Given the description of an element on the screen output the (x, y) to click on. 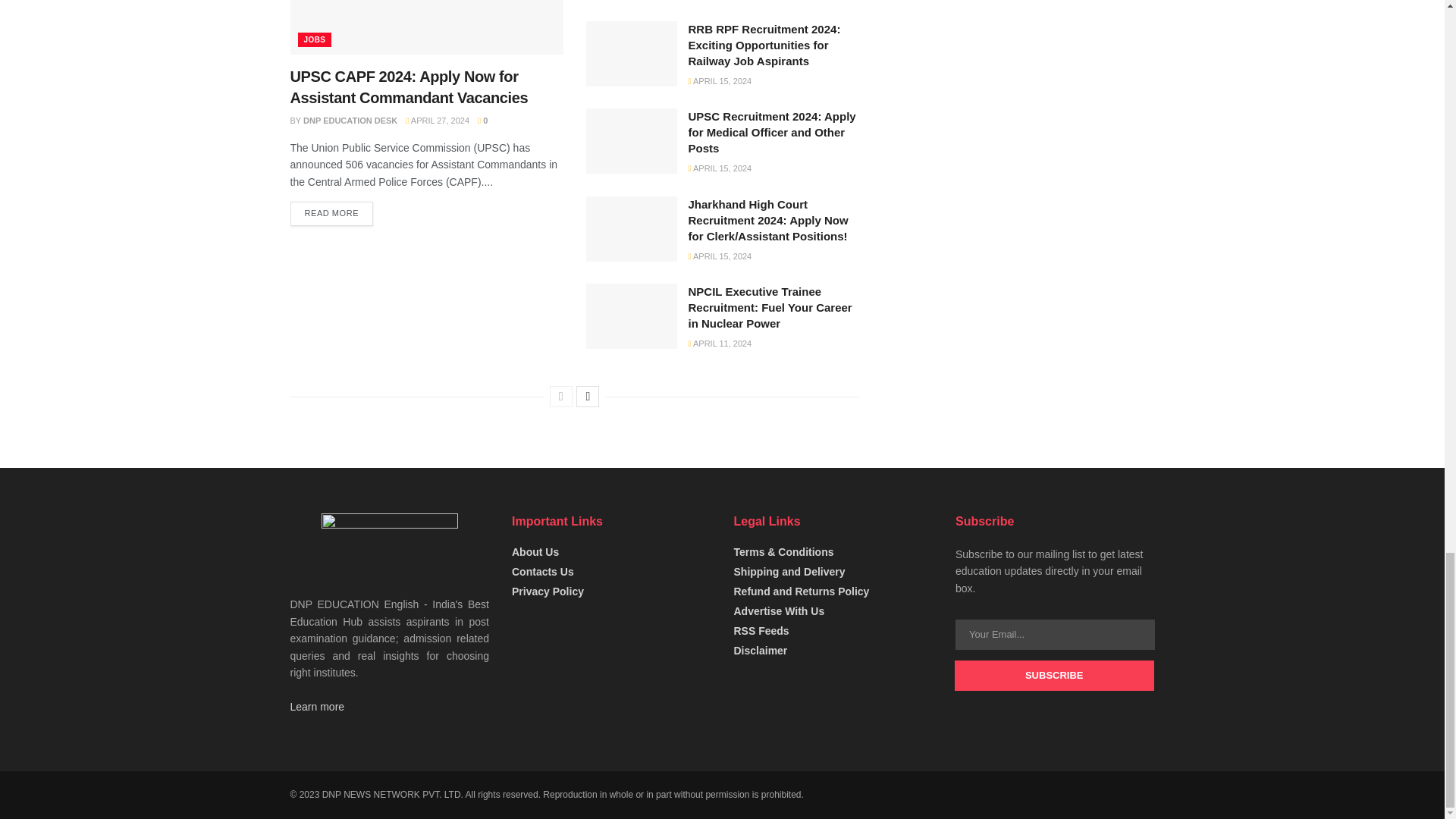
Next (587, 396)
Previous (561, 396)
Subscribe (1054, 675)
